Given the description of an element on the screen output the (x, y) to click on. 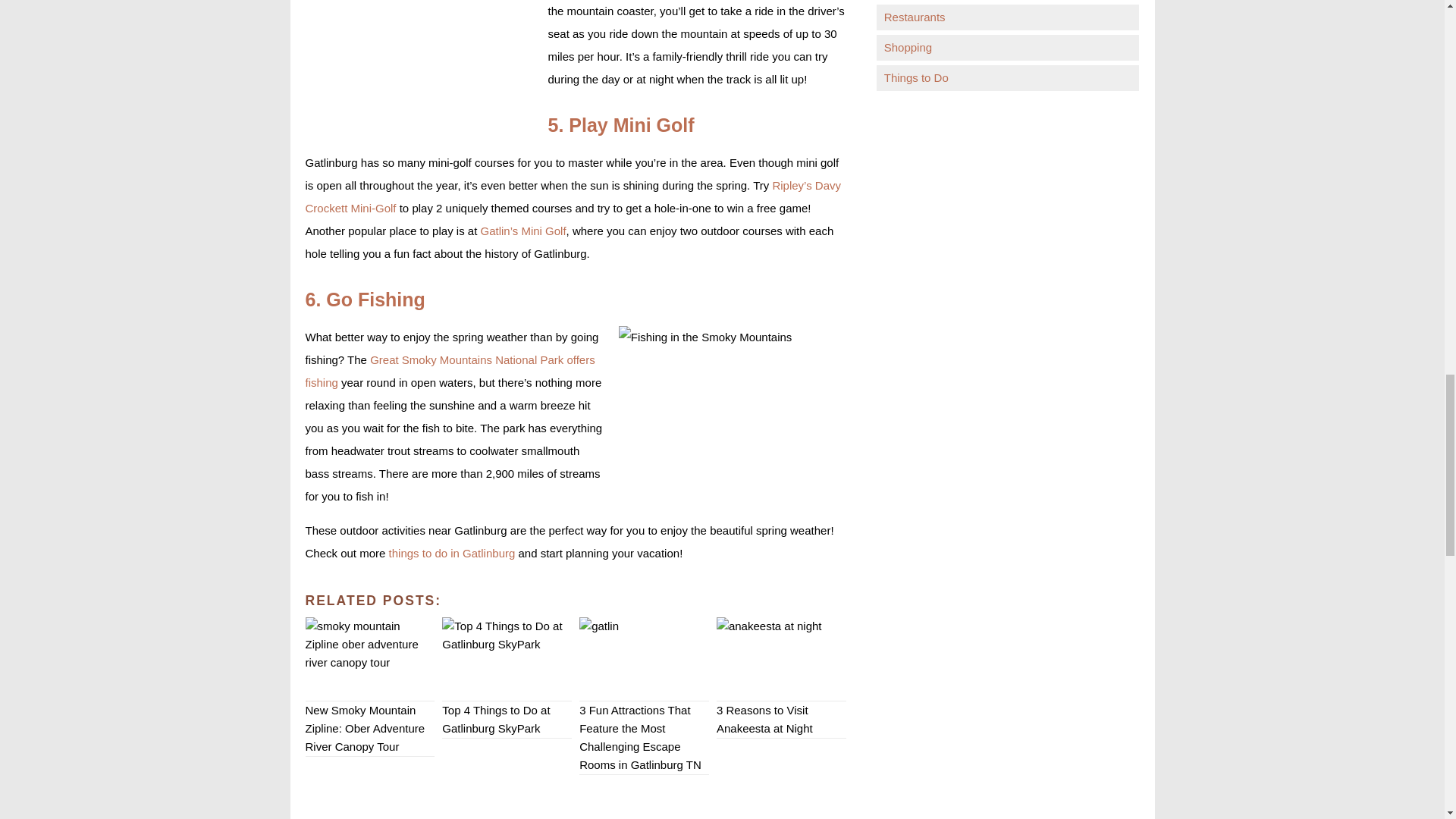
New Smoky Mountain Zipline: Ober Adventure River Canopy Tour (368, 659)
3 Reasons to Visit Anakeesta at Night (780, 659)
Top 4 Things to Do at Gatlinburg SkyPark (507, 659)
